Given the description of an element on the screen output the (x, y) to click on. 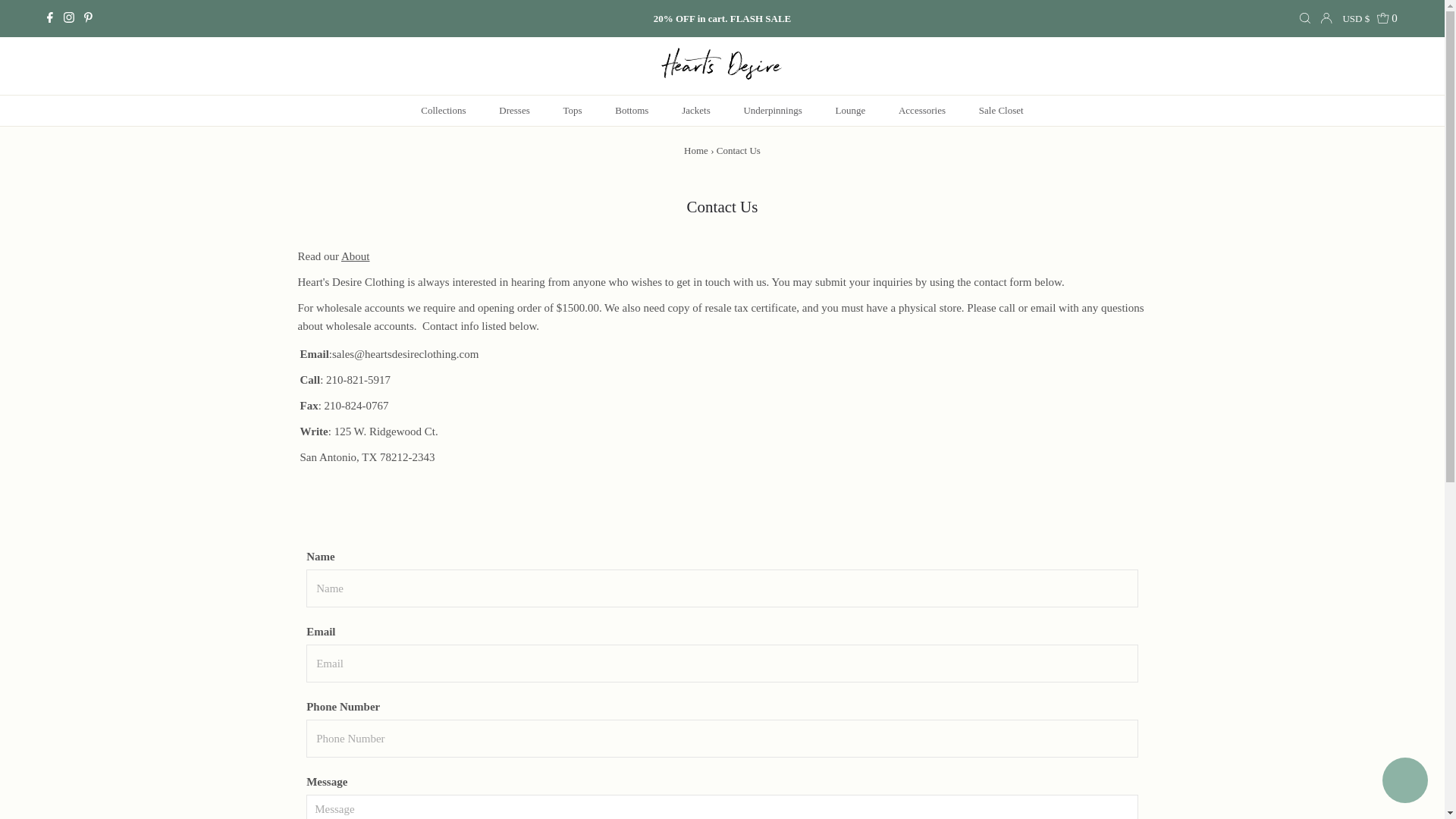
Tops (571, 110)
Home (695, 150)
Collections (443, 110)
Shopify online store chat (1404, 781)
Dresses (513, 110)
